Given the description of an element on the screen output the (x, y) to click on. 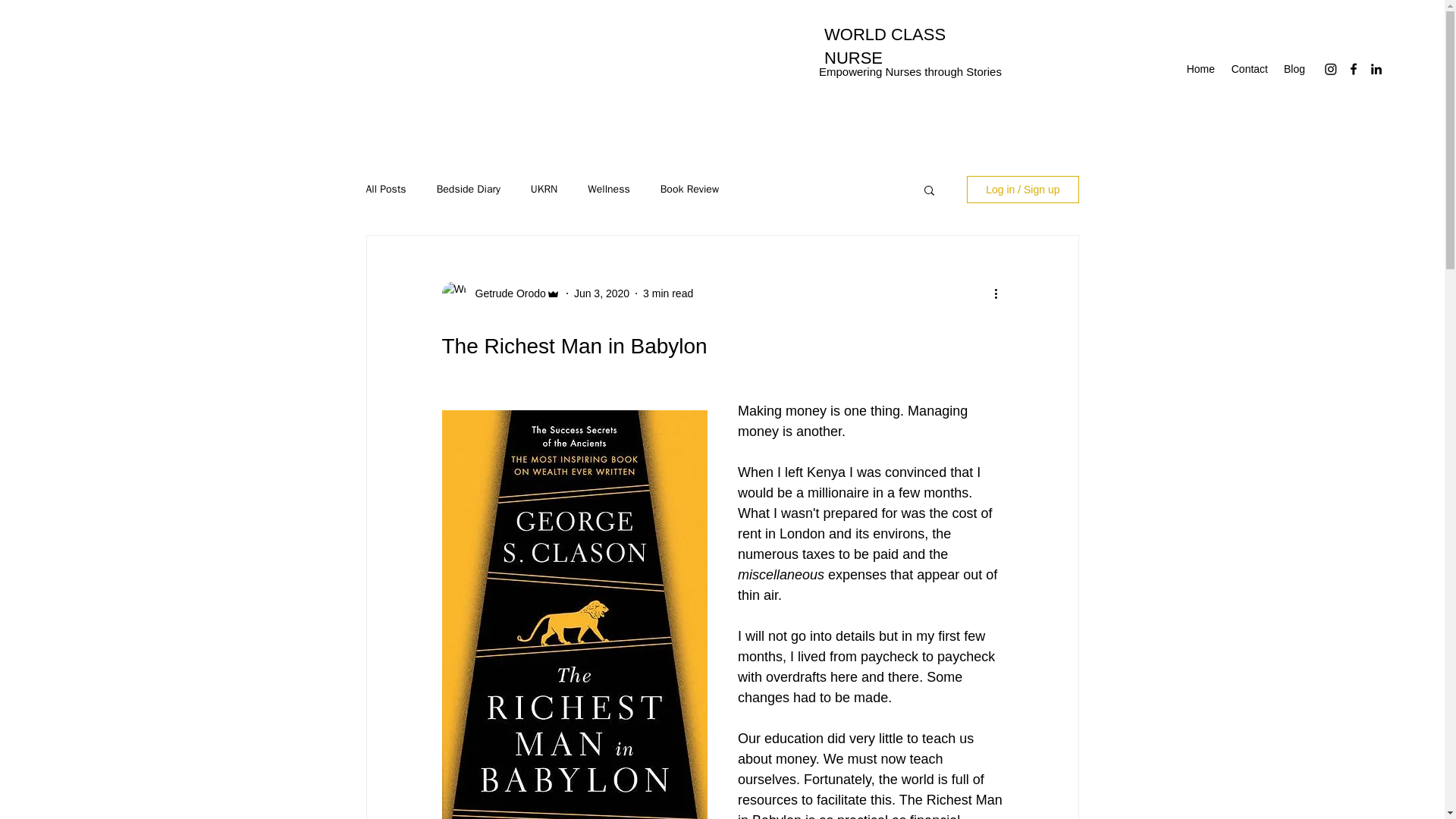
UKRN (544, 189)
Home (1200, 68)
WORLD CLASS NURSE (884, 46)
Contact (1249, 68)
Getrude Orodo (504, 293)
Blog (1294, 68)
Bedside Diary (468, 189)
All Posts (385, 189)
3 min read (668, 293)
Book Review (690, 189)
